Given the description of an element on the screen output the (x, y) to click on. 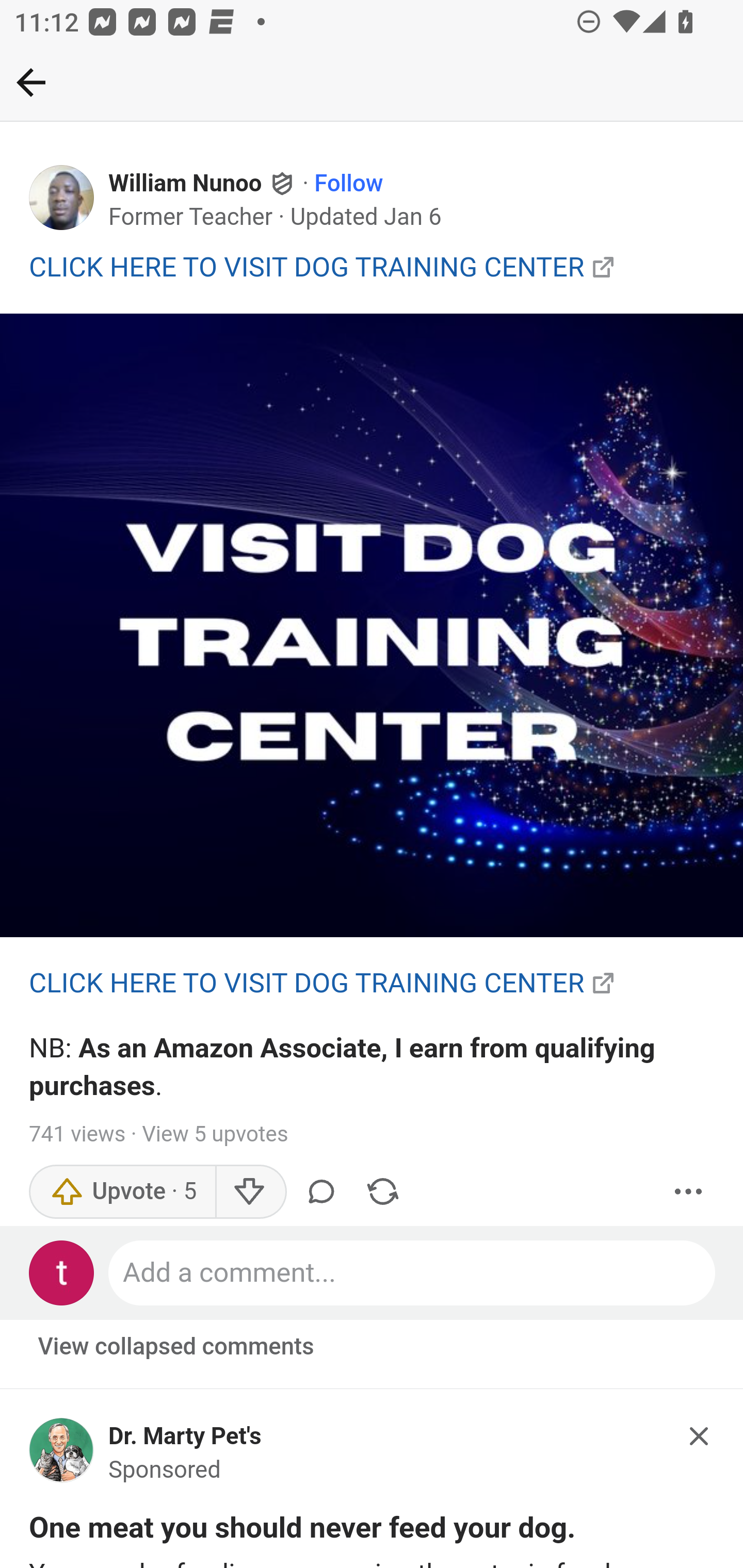
Back (30, 82)
Profile photo for William Nunoo (61, 198)
William Nunoo (185, 183)
Follow (349, 183)
CLICK HERE TO VISIT DOG TRAINING CENTER (306, 266)
main-qimg-c3ea7362fe135c8b9163aebc9a39a139-pjlq (371, 626)
CLICK HERE TO VISIT DOG TRAINING CENTER (306, 982)
Upvote (122, 1191)
Downvote (249, 1191)
Comment (324, 1191)
Share (382, 1191)
More (688, 1191)
Profile photo for Test Appium (61, 1272)
Add a comment... (412, 1272)
View collapsed comments (176, 1346)
Hide (699, 1436)
main-qimg-e8746c09aa0d4ed8a963f1deceb459e8 (61, 1455)
Dr. Marty Pet's (184, 1436)
One meat you should never feed your dog. (301, 1531)
